Given the description of an element on the screen output the (x, y) to click on. 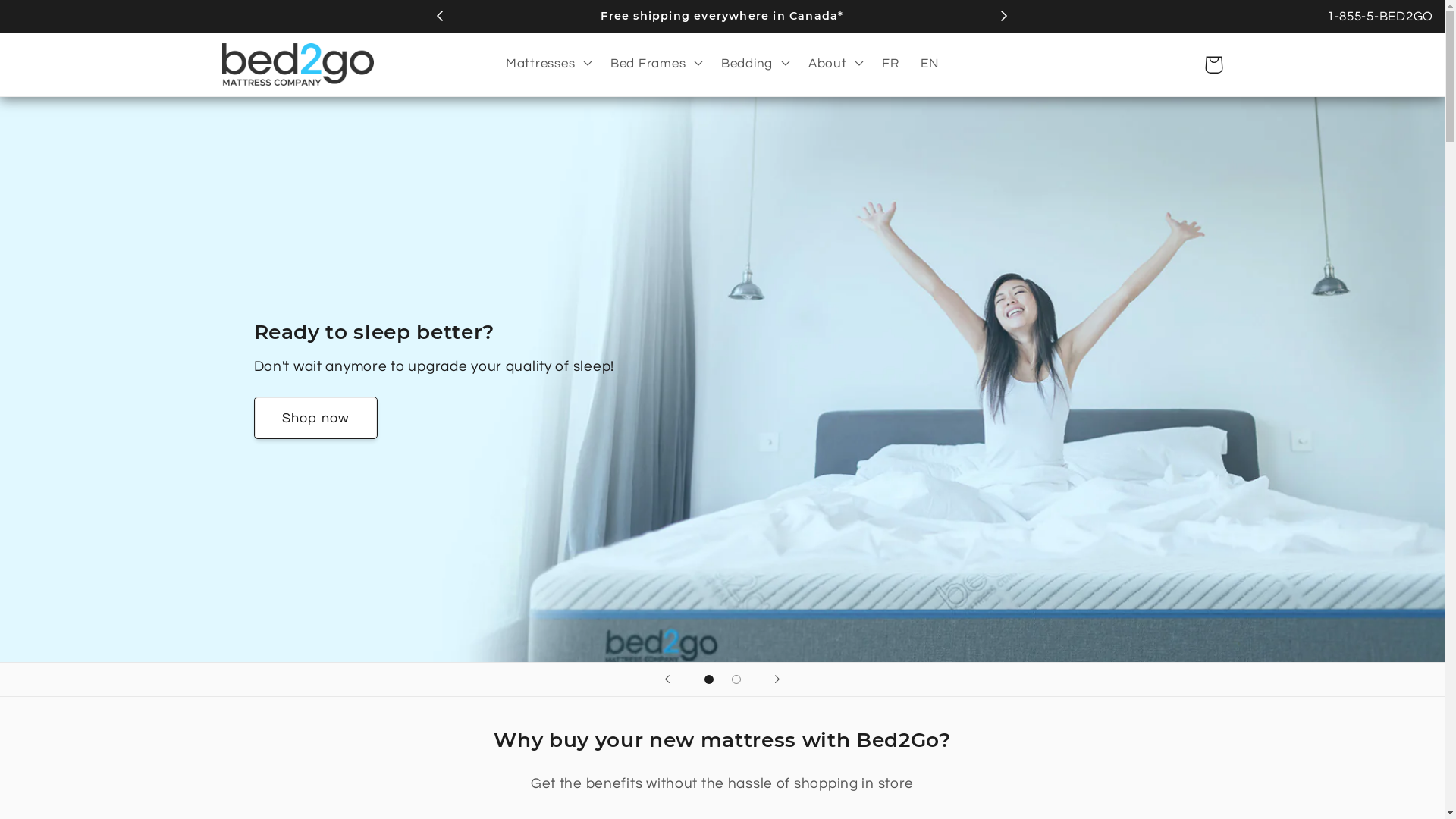
1-855-5-BED2GO Element type: text (1380, 16)
Next Element type: text (1003, 15)
Previous Element type: text (439, 15)
EN Element type: text (929, 64)
Shop now Element type: text (315, 417)
Cart Element type: text (1213, 64)
FR Element type: text (890, 64)
